Given the description of an element on the screen output the (x, y) to click on. 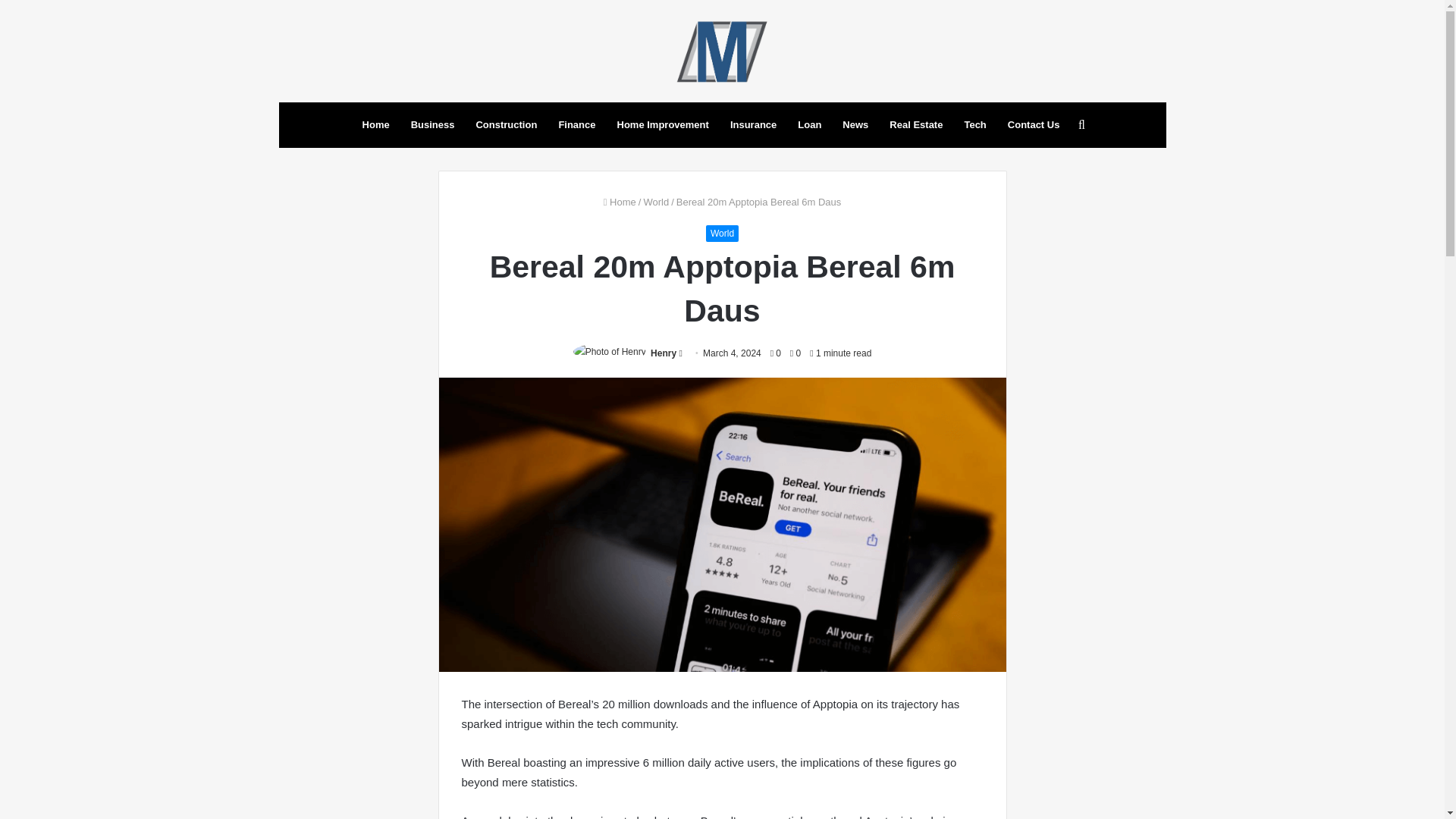
Home (376, 125)
Henry (663, 353)
Murphy Business Charlotte (722, 50)
News (855, 125)
Construction (505, 125)
Henry (663, 353)
World (655, 202)
Tech (974, 125)
Home Improvement (663, 125)
World (722, 233)
